Given the description of an element on the screen output the (x, y) to click on. 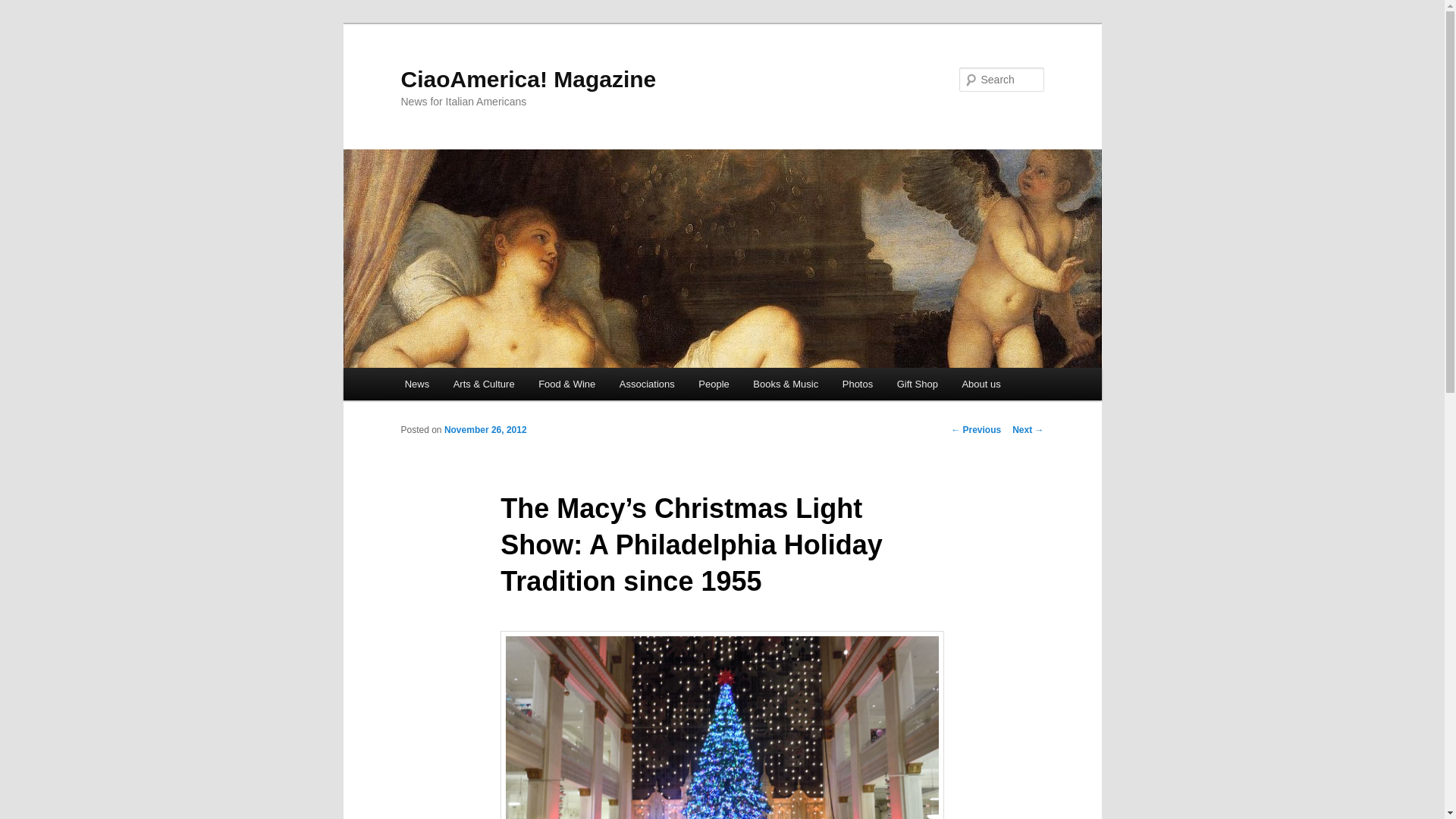
Associations (646, 383)
November 26, 2012 (485, 429)
About us (981, 383)
News (417, 383)
Gift Shop (917, 383)
CiaoAmerica! Magazine (528, 78)
Search (24, 8)
Photos (857, 383)
9:39 pm (485, 429)
People (714, 383)
